Given the description of an element on the screen output the (x, y) to click on. 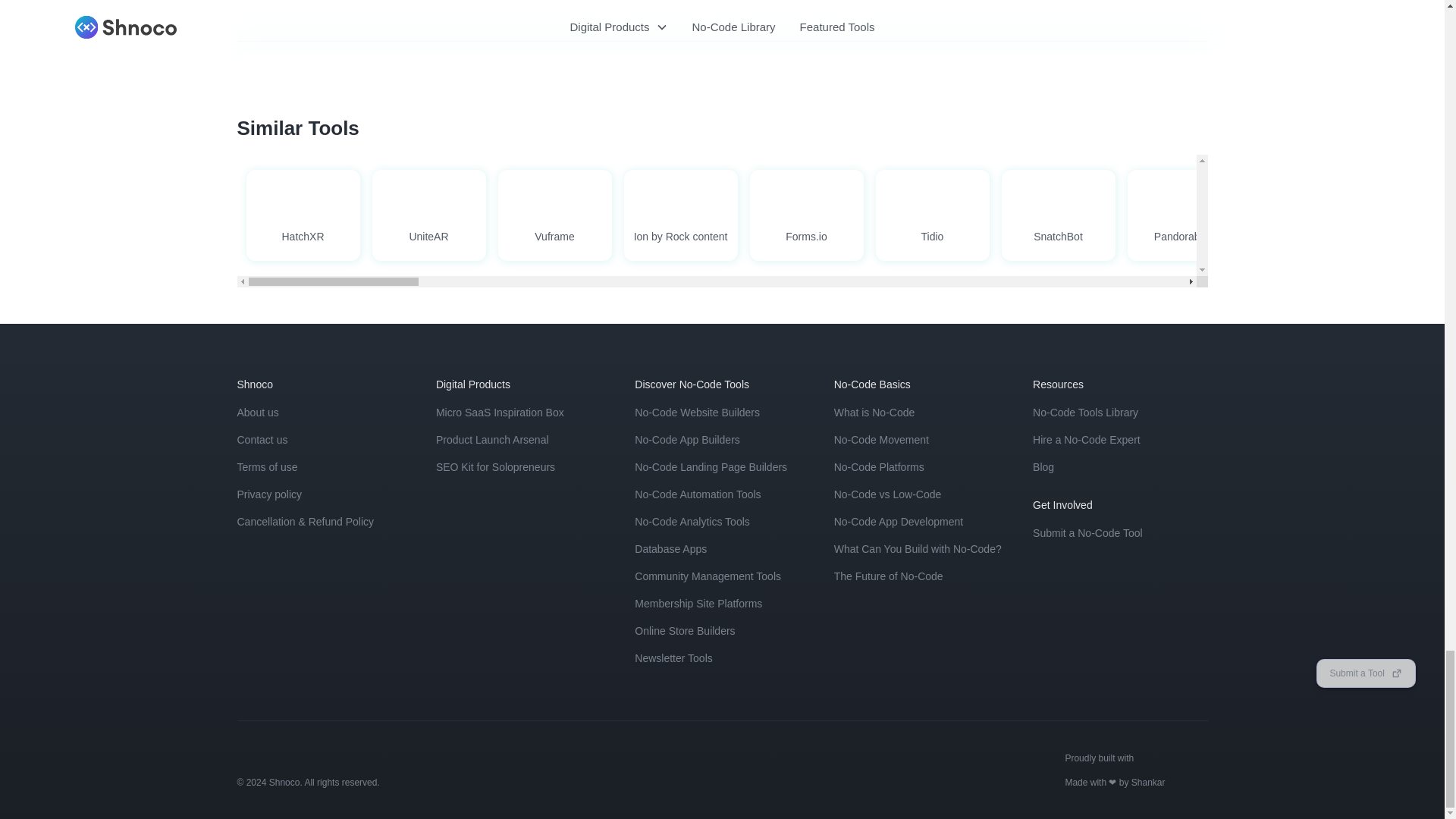
SnatchBot (1058, 209)
UniteAR (427, 215)
HatchXR (302, 209)
SnatchBot (1058, 215)
Vuframe (554, 209)
UniteAR (427, 209)
ManyChat (1309, 215)
Tidio (931, 215)
Pandorabots (1183, 215)
ManyChat (1309, 209)
